Given the description of an element on the screen output the (x, y) to click on. 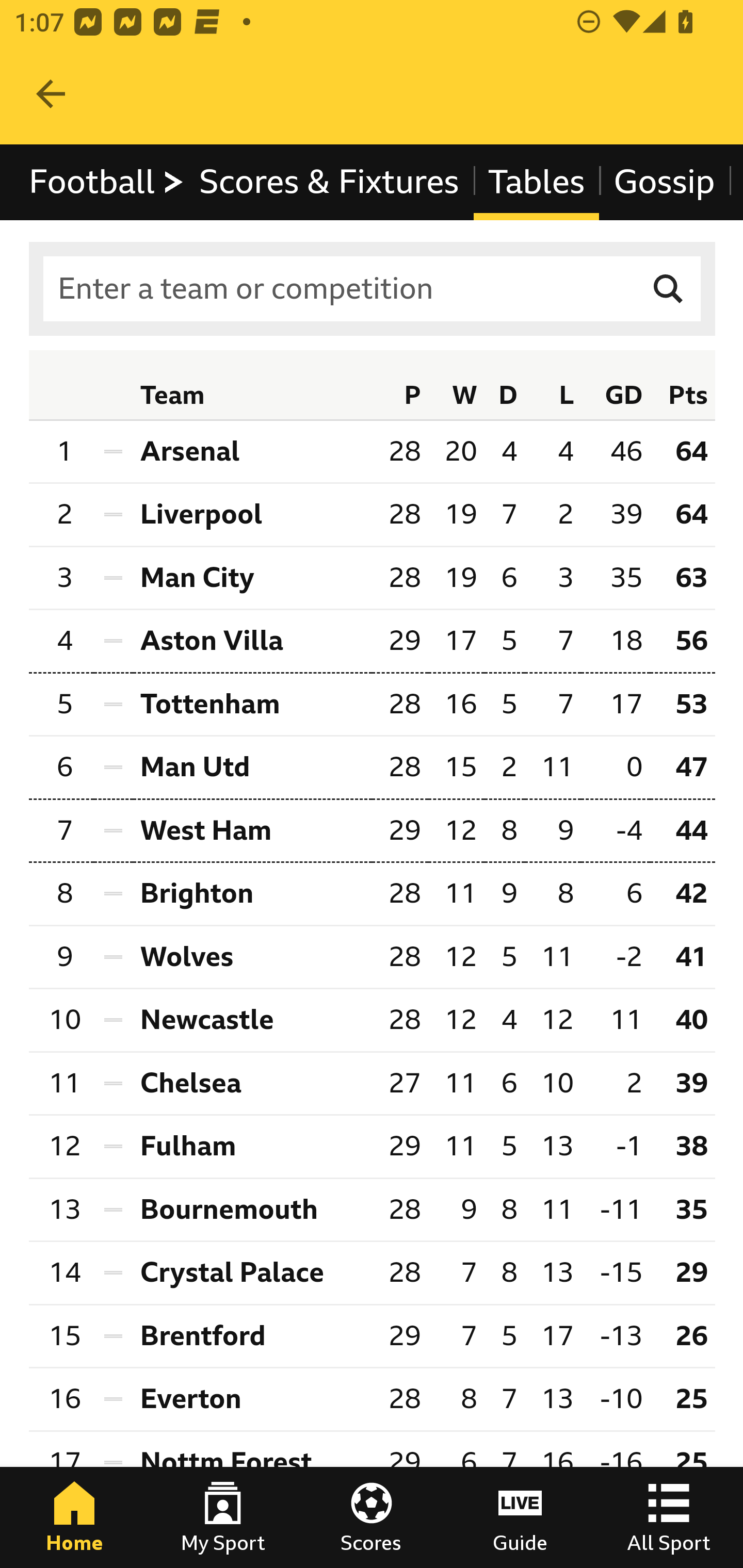
Navigate up (50, 93)
Football  (106, 181)
Scores & Fixtures (329, 181)
Tables (536, 181)
Gossip (664, 181)
Search (669, 289)
Arsenal (252, 450)
Liverpool (252, 514)
Man City Manchester City (252, 577)
Aston Villa (252, 640)
Tottenham Tottenham Hotspur (252, 704)
Man Utd Manchester United (252, 768)
West Ham West Ham United (252, 830)
Brighton Brighton & Hove Albion (252, 894)
Wolves Wolverhampton Wanderers (252, 957)
Newcastle Newcastle United (252, 1020)
Chelsea (252, 1082)
Fulham (252, 1145)
Bournemouth AFC Bournemouth (252, 1209)
Crystal Palace (252, 1271)
Brentford (252, 1335)
Everton (252, 1399)
My Sport (222, 1517)
Scores (371, 1517)
Guide (519, 1517)
All Sport (668, 1517)
